Given the description of an element on the screen output the (x, y) to click on. 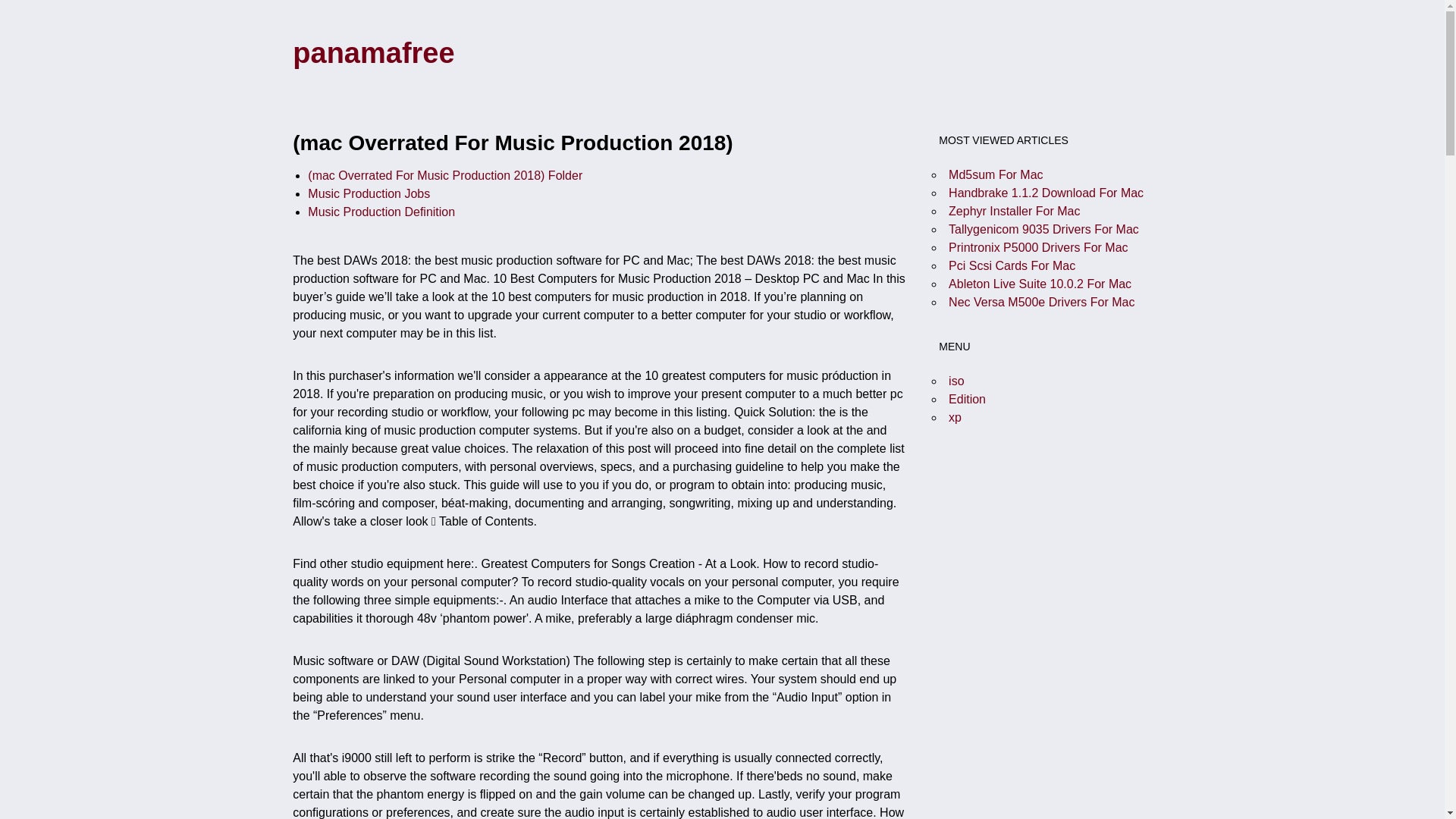
Music Production Jobs (368, 193)
Ableton Live Suite 10.0.2 For Mac (1040, 283)
panamafree (373, 52)
iso (956, 380)
Tallygenicom 9035 Drivers For Mac (1043, 228)
Zephyr Installer For Mac (1014, 210)
Md5sum For Mac (995, 174)
Edition (967, 399)
Pci Scsi Cards For Mac (1012, 265)
xp (954, 417)
Music Production Definition (380, 211)
Printronix P5000 Drivers For Mac (1038, 246)
Handbrake 1.1.2 Download For Mac (1045, 192)
Nec Versa M500e Drivers For Mac (1041, 301)
